Given the description of an element on the screen output the (x, y) to click on. 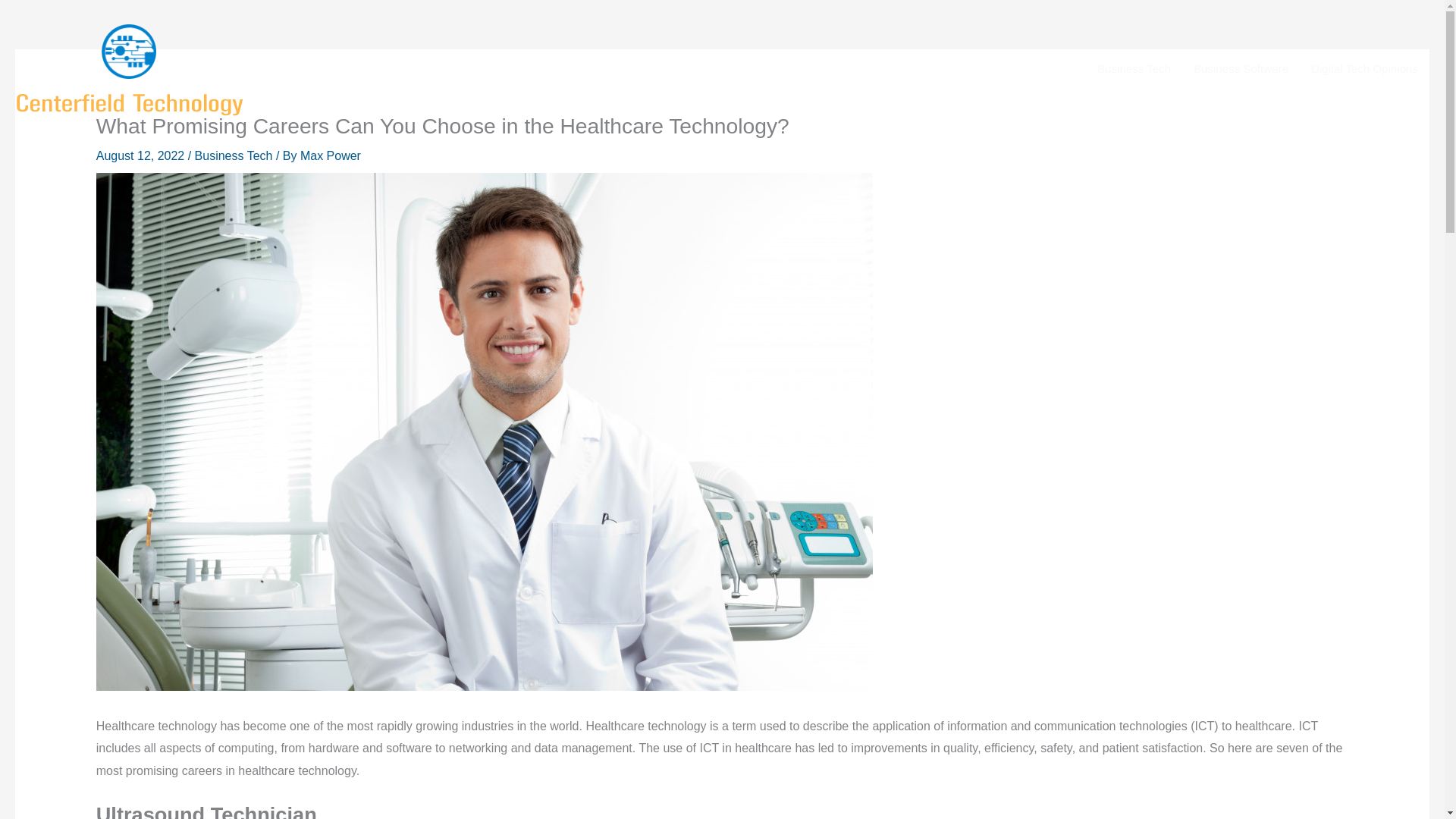
View all posts by Max Power (330, 155)
Business Software (1241, 67)
Business Tech (234, 155)
Max Power (330, 155)
Business Tech (1134, 67)
Digital Tech Opinions (1364, 67)
